Given the description of an element on the screen output the (x, y) to click on. 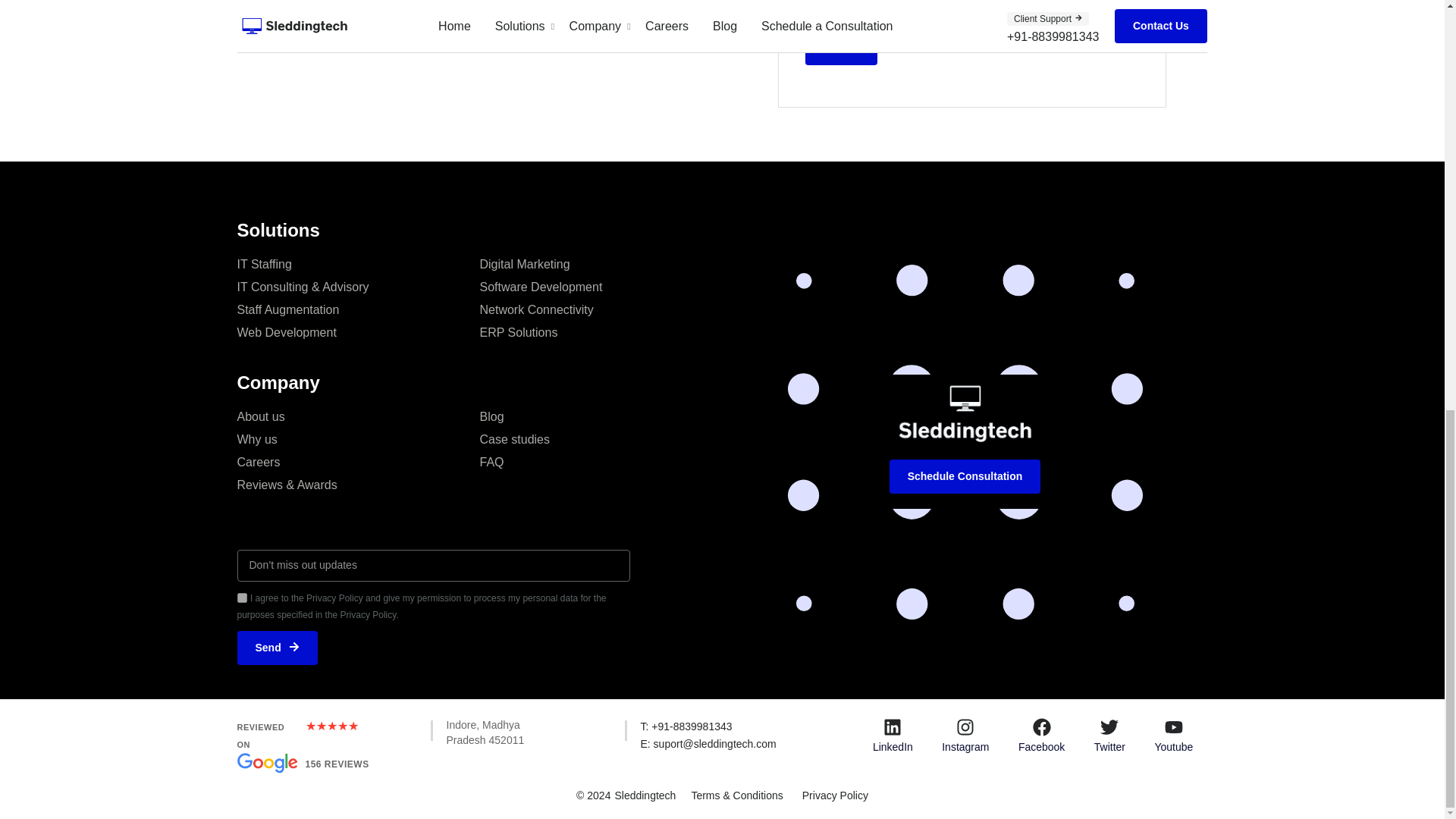
on (240, 597)
Submit (841, 48)
